Given the description of an element on the screen output the (x, y) to click on. 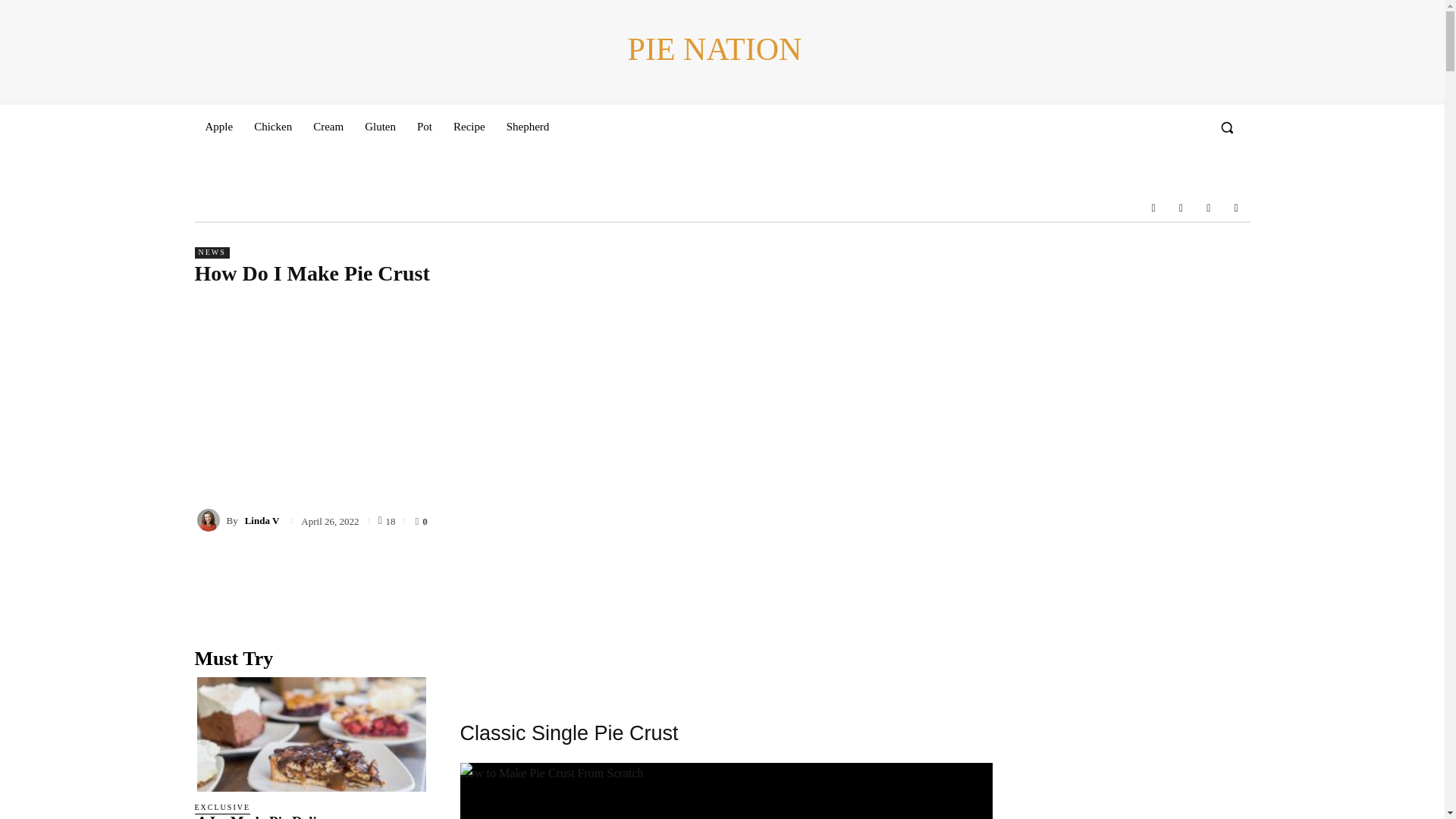
Chicken (272, 126)
Instagram (1180, 207)
Facebook (1153, 207)
Cream (327, 126)
PIE NATION (713, 49)
Youtube (1236, 207)
Apple (218, 126)
Gluten (379, 126)
VKontakte (1209, 207)
Shepherd (528, 126)
Pot (424, 126)
Recipe (469, 126)
